Given the description of an element on the screen output the (x, y) to click on. 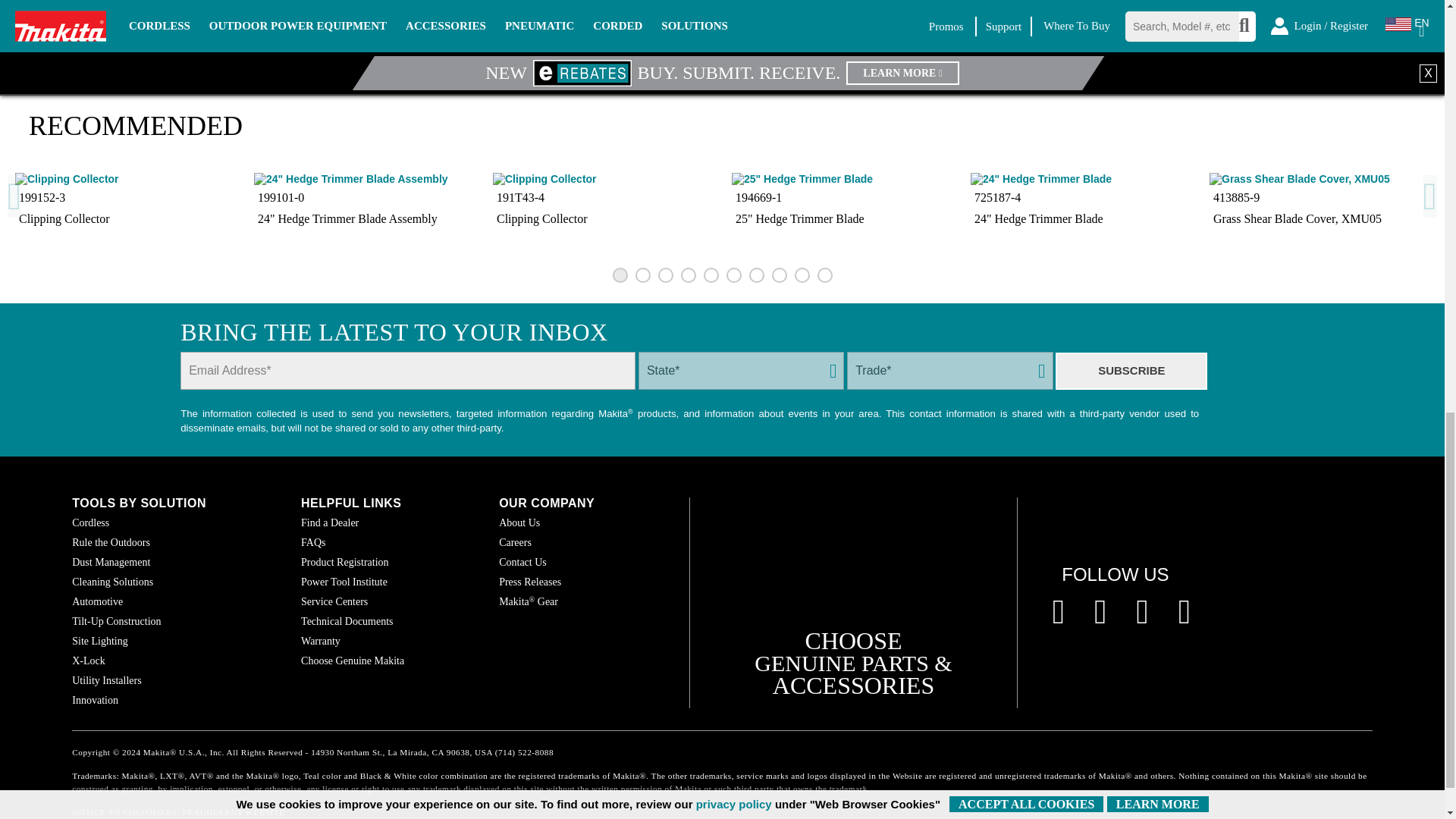
Subscribe (1131, 370)
